Given the description of an element on the screen output the (x, y) to click on. 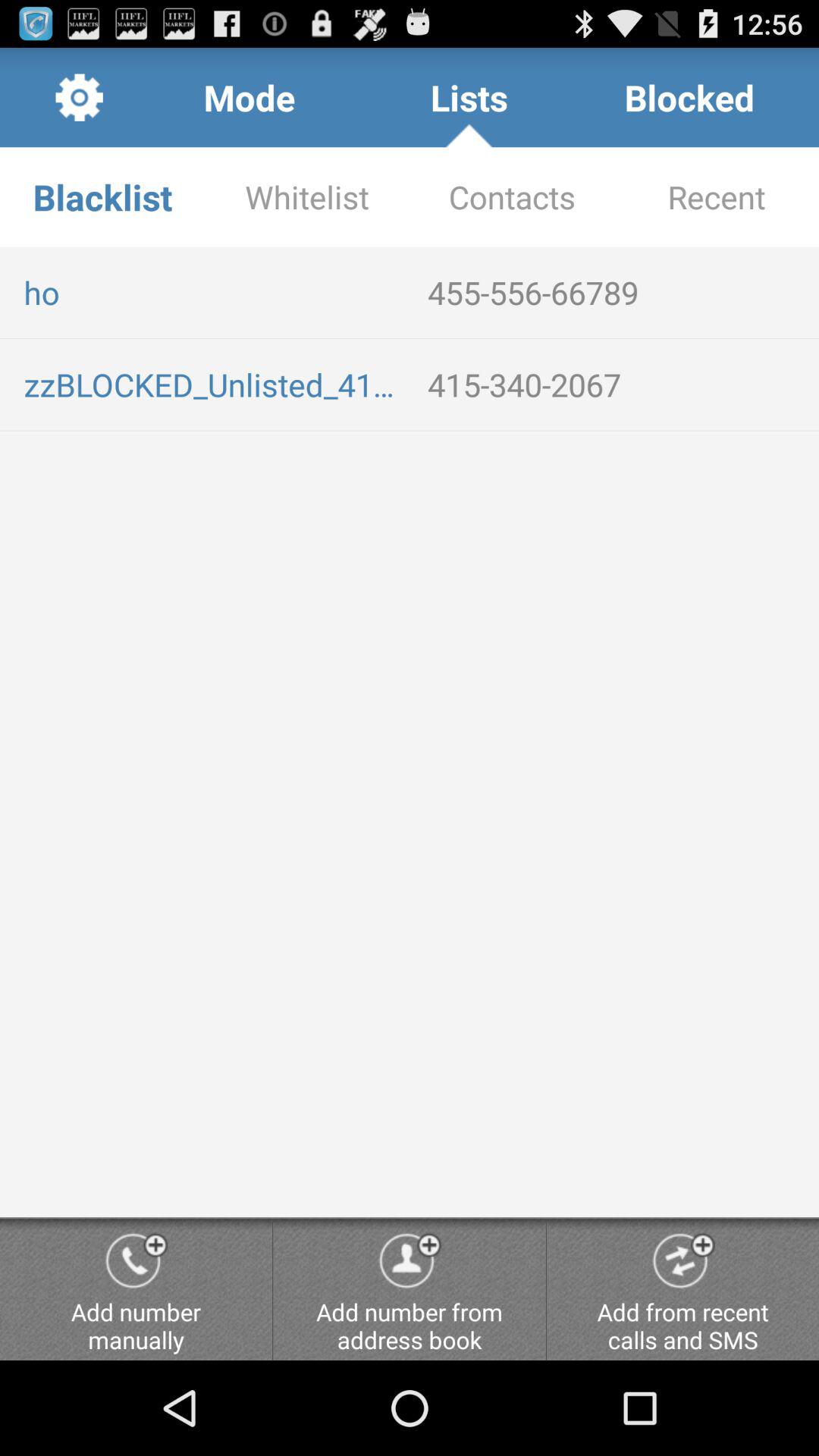
click the zzblocked_unlisted_4153402067 (213, 384)
